Given the description of an element on the screen output the (x, y) to click on. 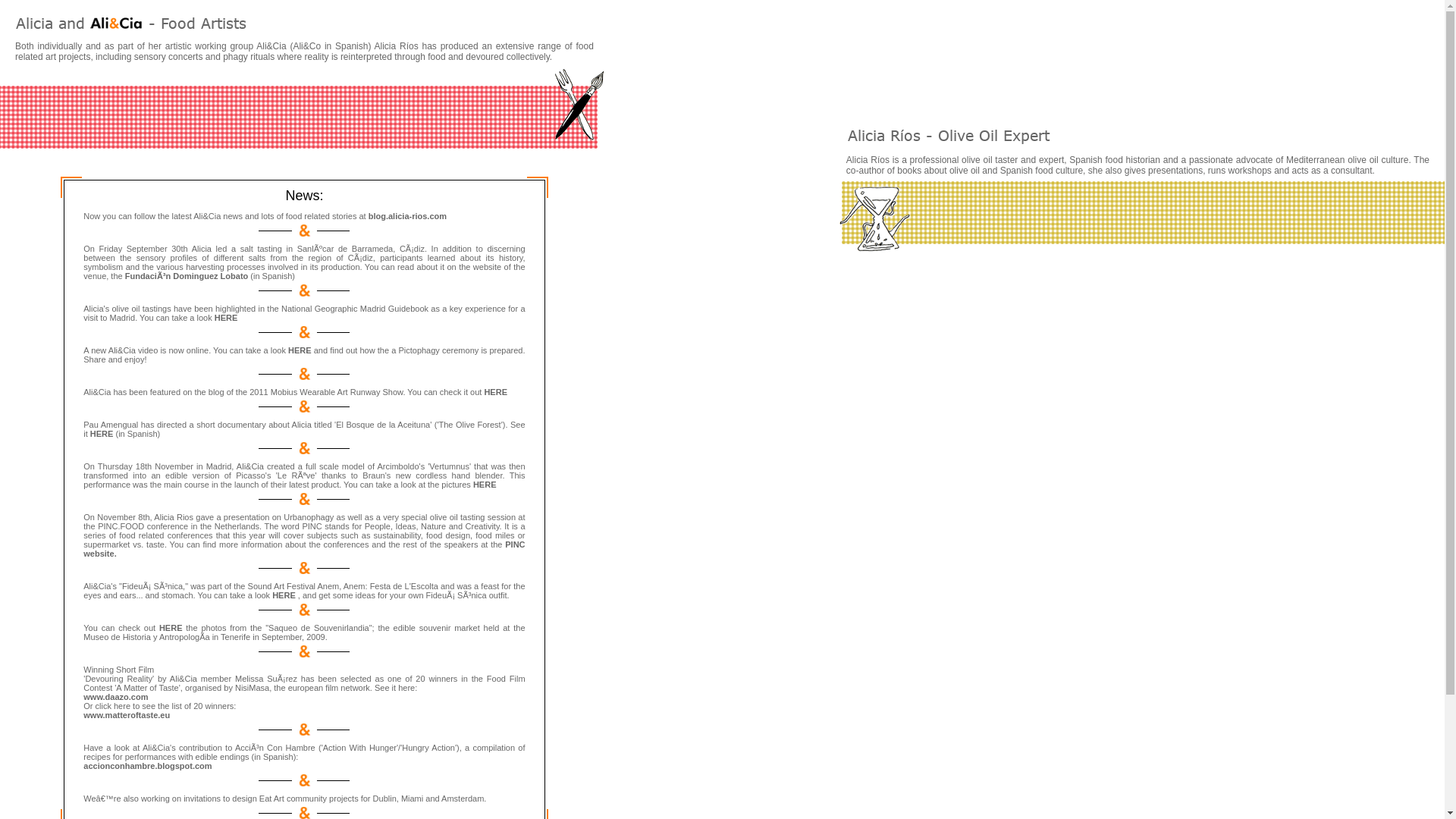
www.matteroftaste.eu (126, 714)
HERE (226, 317)
www.daazo.com (115, 696)
HERE (101, 433)
accionconhambre.blogspot.com (146, 765)
blog.alicia-rios.com (407, 215)
HERE (484, 483)
HERE (299, 349)
PINC website. (303, 548)
HERE (283, 594)
HERE (494, 391)
HERE (172, 627)
